Given the description of an element on the screen output the (x, y) to click on. 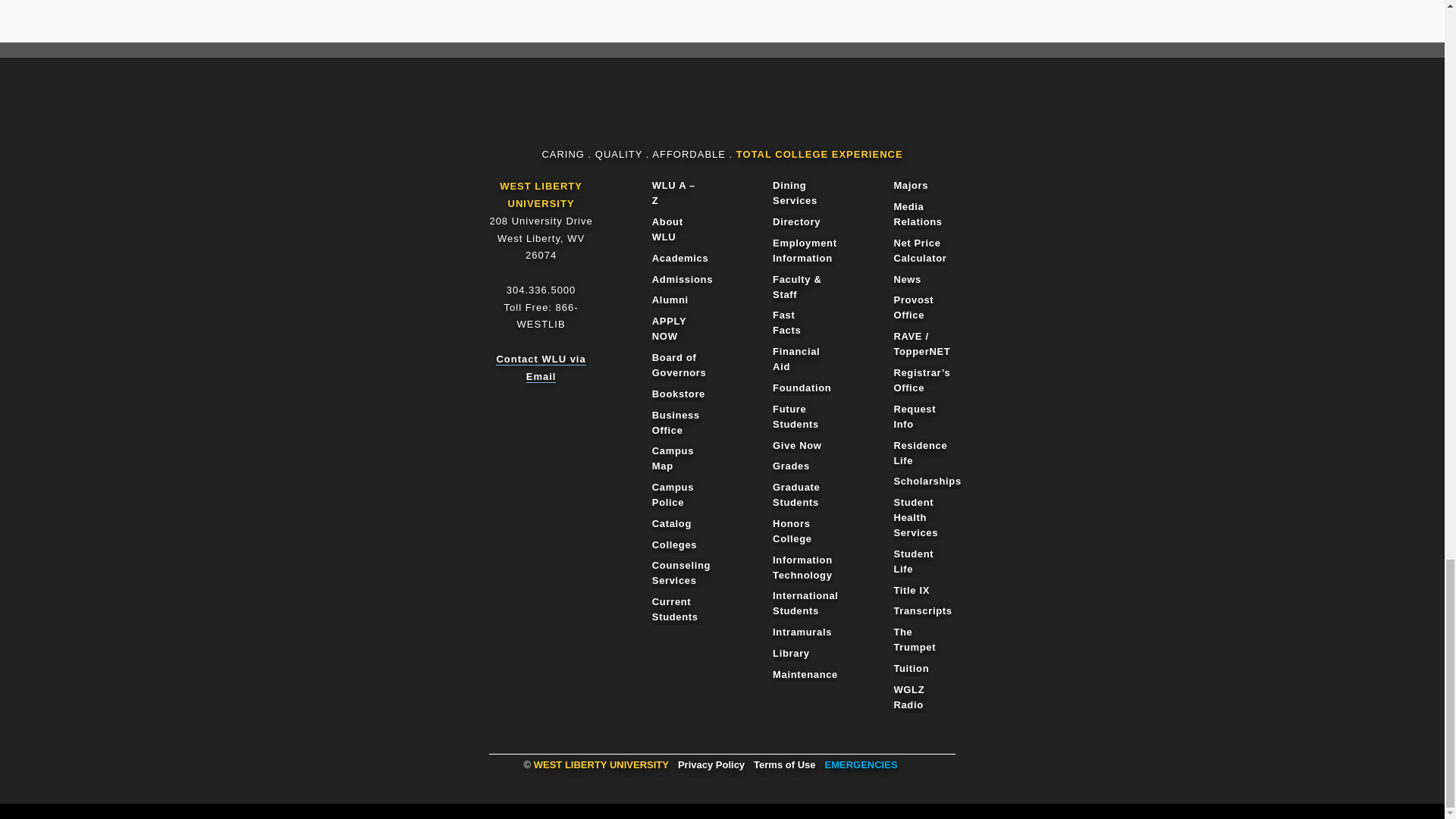
WEST LIBERTY UNIVERSITY (540, 194)
Contact WLU via Email (540, 367)
WLU (716, 113)
